Given the description of an element on the screen output the (x, y) to click on. 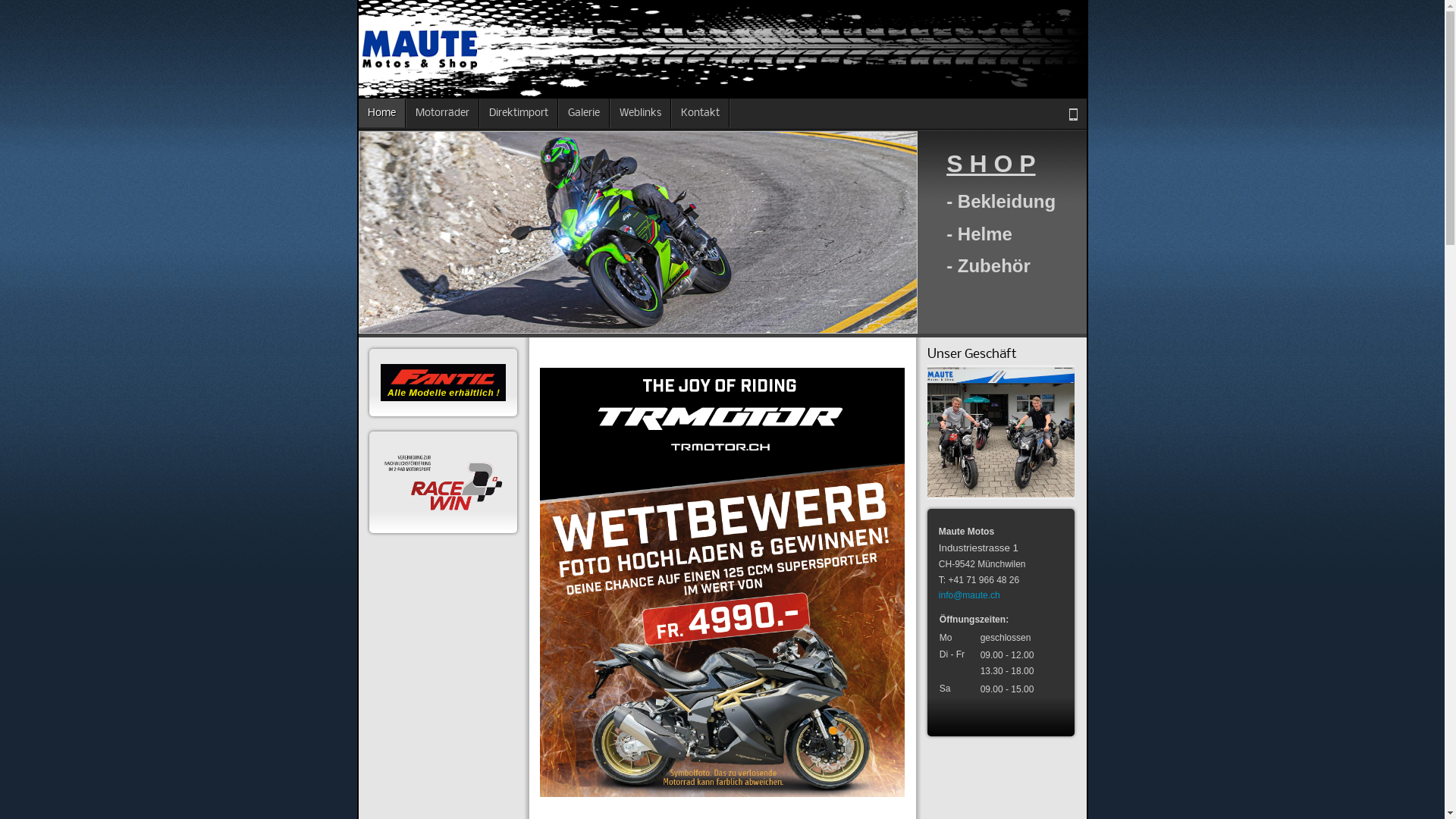
Galerie Element type: text (583, 112)
Weblinks Element type: text (639, 112)
Home Element type: text (380, 112)
Kontakt Element type: text (700, 112)
Direktimport Element type: text (518, 112)
info@maute.ch Element type: text (969, 594)
